Given the description of an element on the screen output the (x, y) to click on. 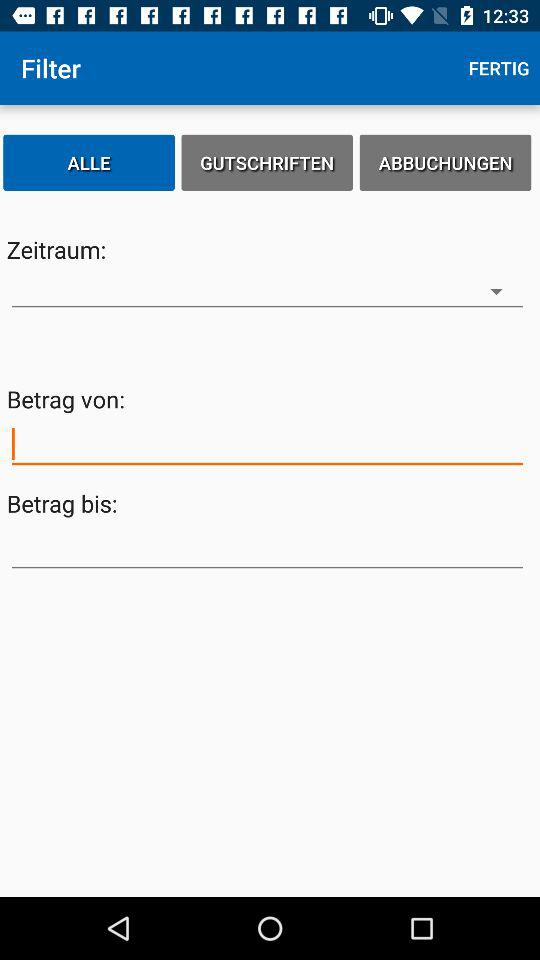
open abbuchungen (445, 162)
